Given the description of an element on the screen output the (x, y) to click on. 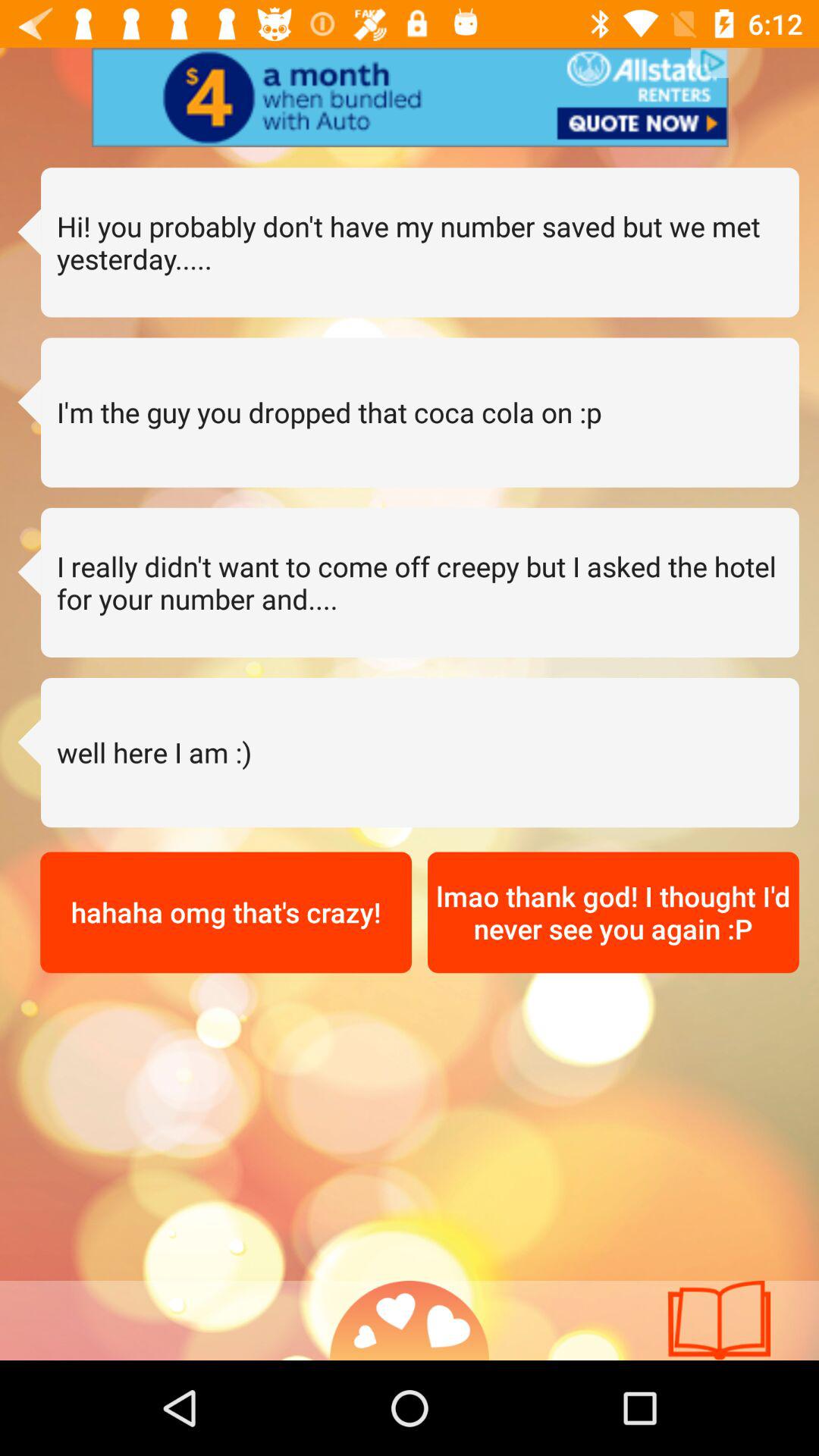
go to advertisement option (409, 97)
